Given the description of an element on the screen output the (x, y) to click on. 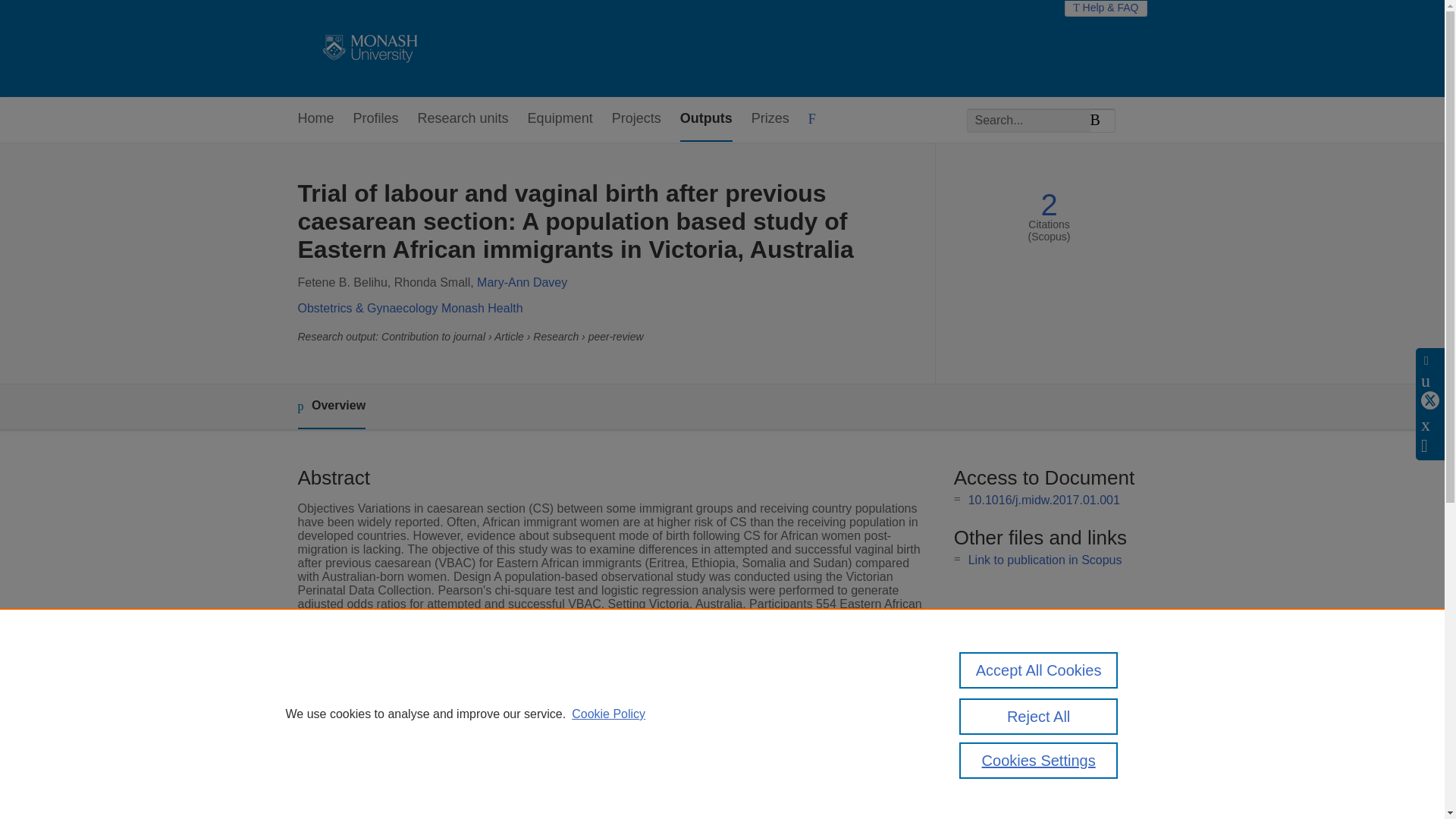
Monash University Home (366, 48)
Mary-Ann Davey (522, 282)
Cookie Policy (608, 713)
Overview (331, 406)
Profiles (375, 119)
Outputs (705, 119)
Projects (636, 119)
Link to publication in Scopus (1045, 559)
Research units (462, 119)
Equipment (559, 119)
